Given the description of an element on the screen output the (x, y) to click on. 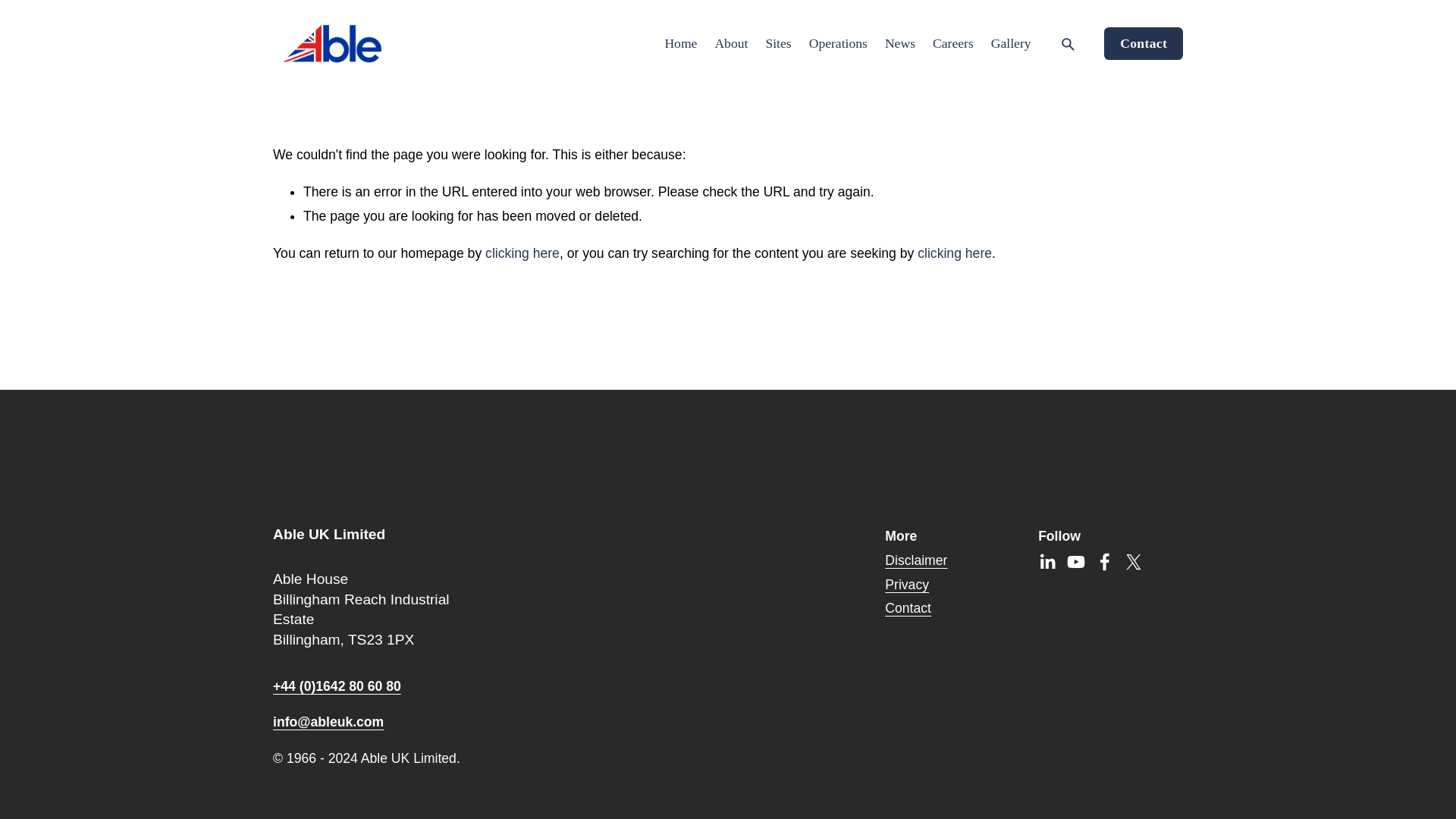
clicking here (954, 253)
Gallery (1010, 43)
Search Search This Website (1067, 43)
Contact (908, 608)
Sites (777, 43)
Careers (953, 43)
Disclaimer (916, 560)
About (731, 43)
Contact (1142, 43)
Home (680, 43)
